Given the description of an element on the screen output the (x, y) to click on. 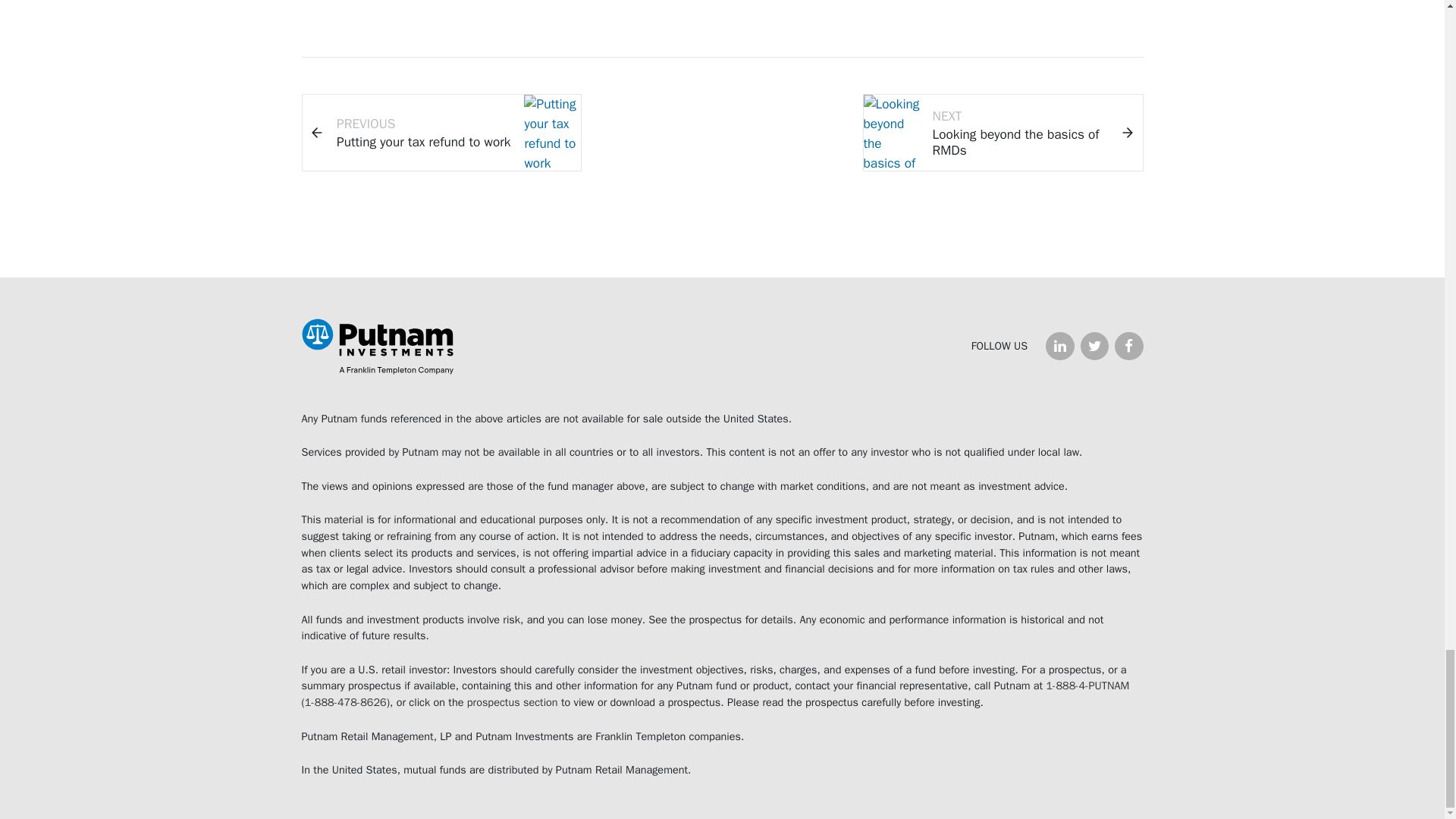
on Twitter (1094, 346)
on Facebook (1002, 132)
on LinkedIn (1128, 346)
